Given the description of an element on the screen output the (x, y) to click on. 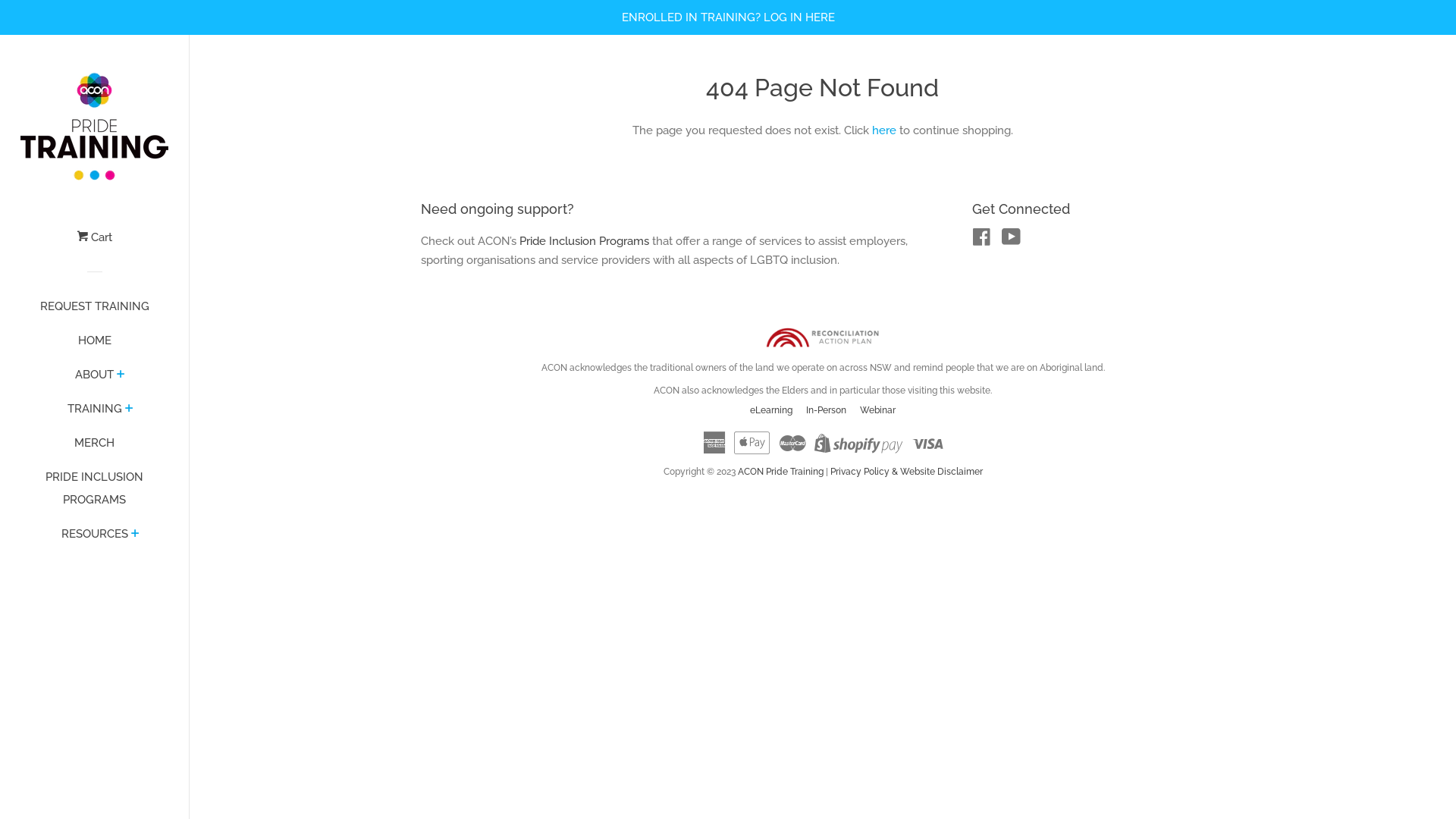
RESOURCES Element type: text (93, 539)
Privacy Policy & Website Disclaimer Element type: text (905, 471)
PRIDE INCLUSION PROGRAMS Element type: text (93, 493)
MERCH Element type: text (93, 448)
eLearning Element type: text (770, 409)
Facebook Element type: text (981, 240)
Pride Inclusion Programs Element type: text (584, 240)
HOME Element type: text (93, 346)
In-Person Element type: text (826, 409)
Webinar Element type: text (877, 409)
Close Element type: text (1406, 100)
here Element type: text (884, 130)
TRAINING Element type: text (93, 414)
Cart Element type: text (94, 242)
YouTube Element type: text (1010, 240)
ACON Pride Training Element type: text (781, 471)
ABOUT Element type: text (94, 380)
REQUEST TRAINING Element type: text (93, 311)
